Given the description of an element on the screen output the (x, y) to click on. 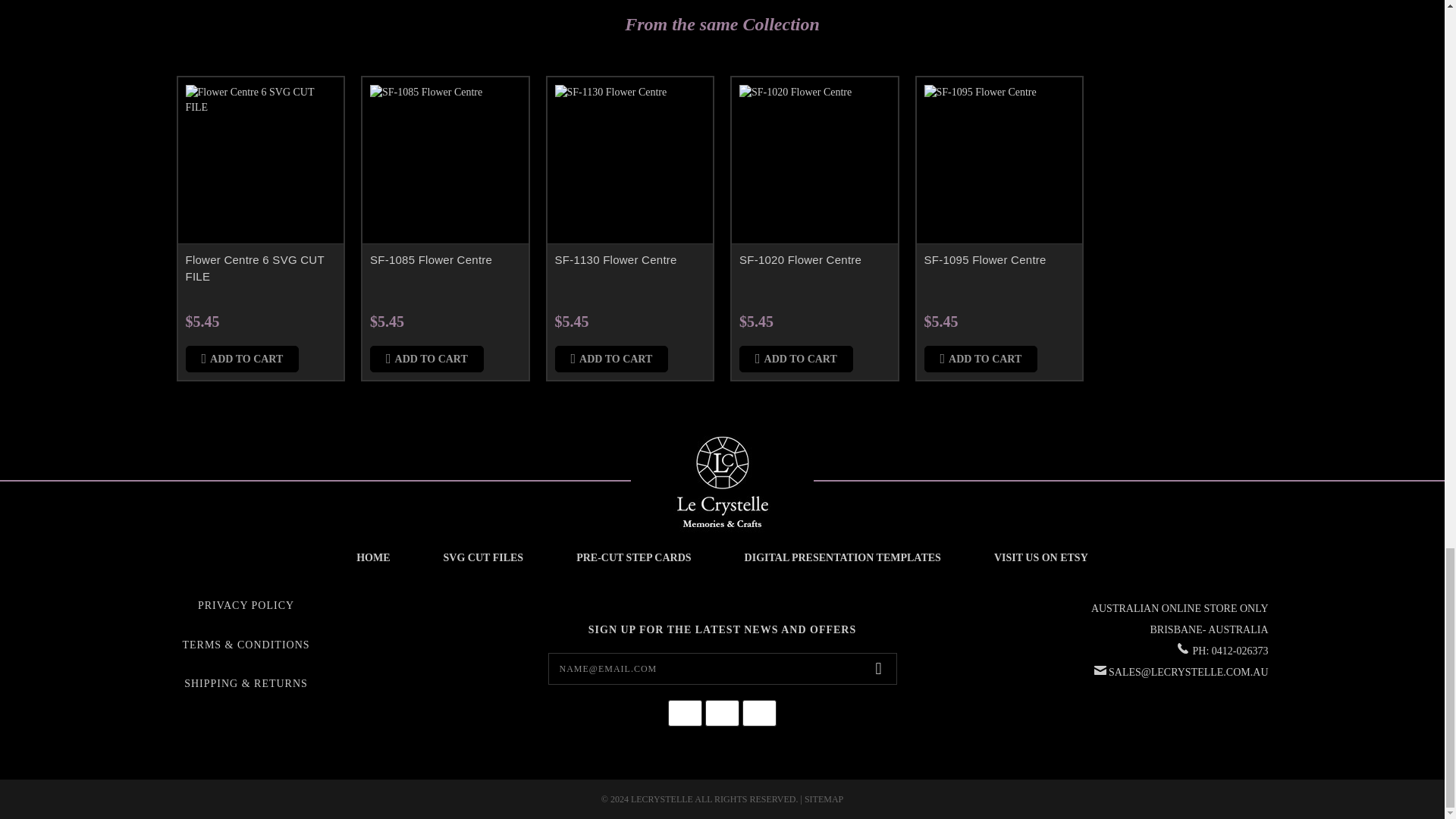
SF-1085 Flower Centre  (445, 160)
Flower Centre 6 SVG CUT FILE (260, 160)
